Given the description of an element on the screen output the (x, y) to click on. 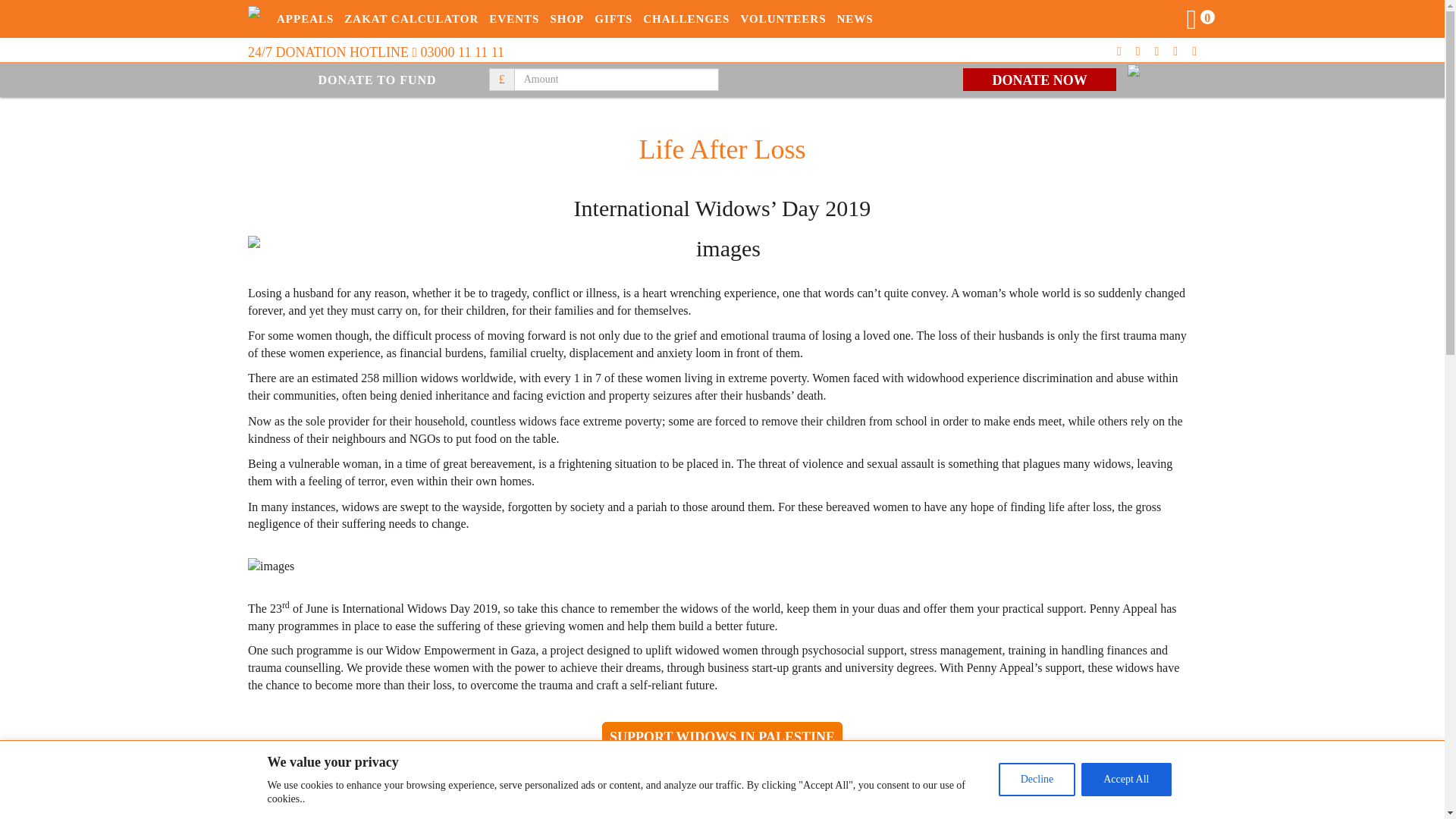
ZAKAT CALCULATOR (411, 18)
CHALLENGES (686, 18)
Decline (1036, 779)
GIFTS (613, 18)
DONATE NOW (1039, 78)
NEWS (855, 18)
ZAKAT CALCULATOR (411, 18)
SHOP (566, 18)
NEWS (855, 18)
GIFTS (613, 18)
APPEALS (304, 18)
SUPPORT WIDOWS IN PALESTINE (722, 736)
SHOP (566, 18)
EVENTS (513, 18)
VOLUNTEERS (783, 18)
